Given the description of an element on the screen output the (x, y) to click on. 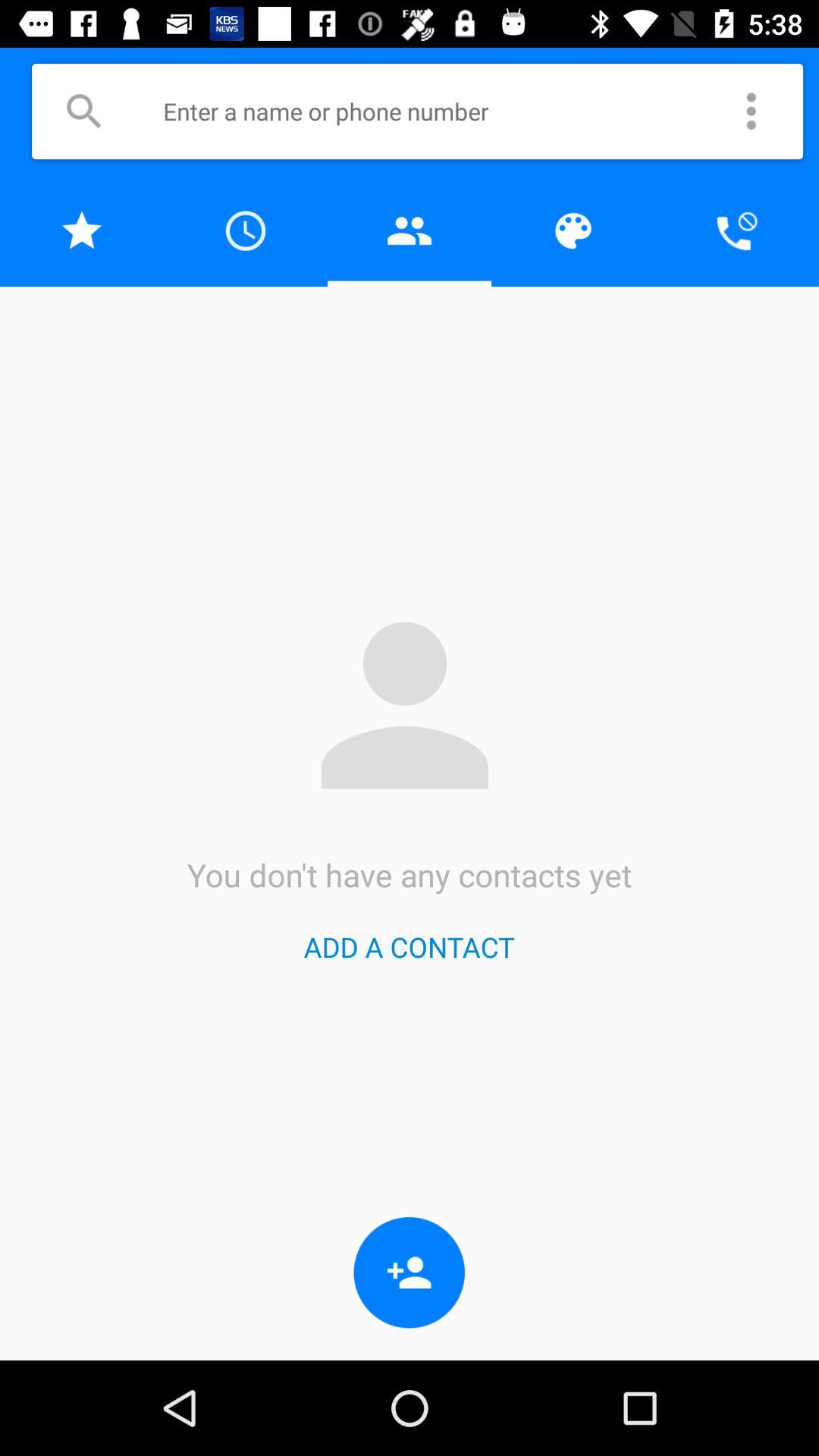
open contacts (409, 230)
